Given the description of an element on the screen output the (x, y) to click on. 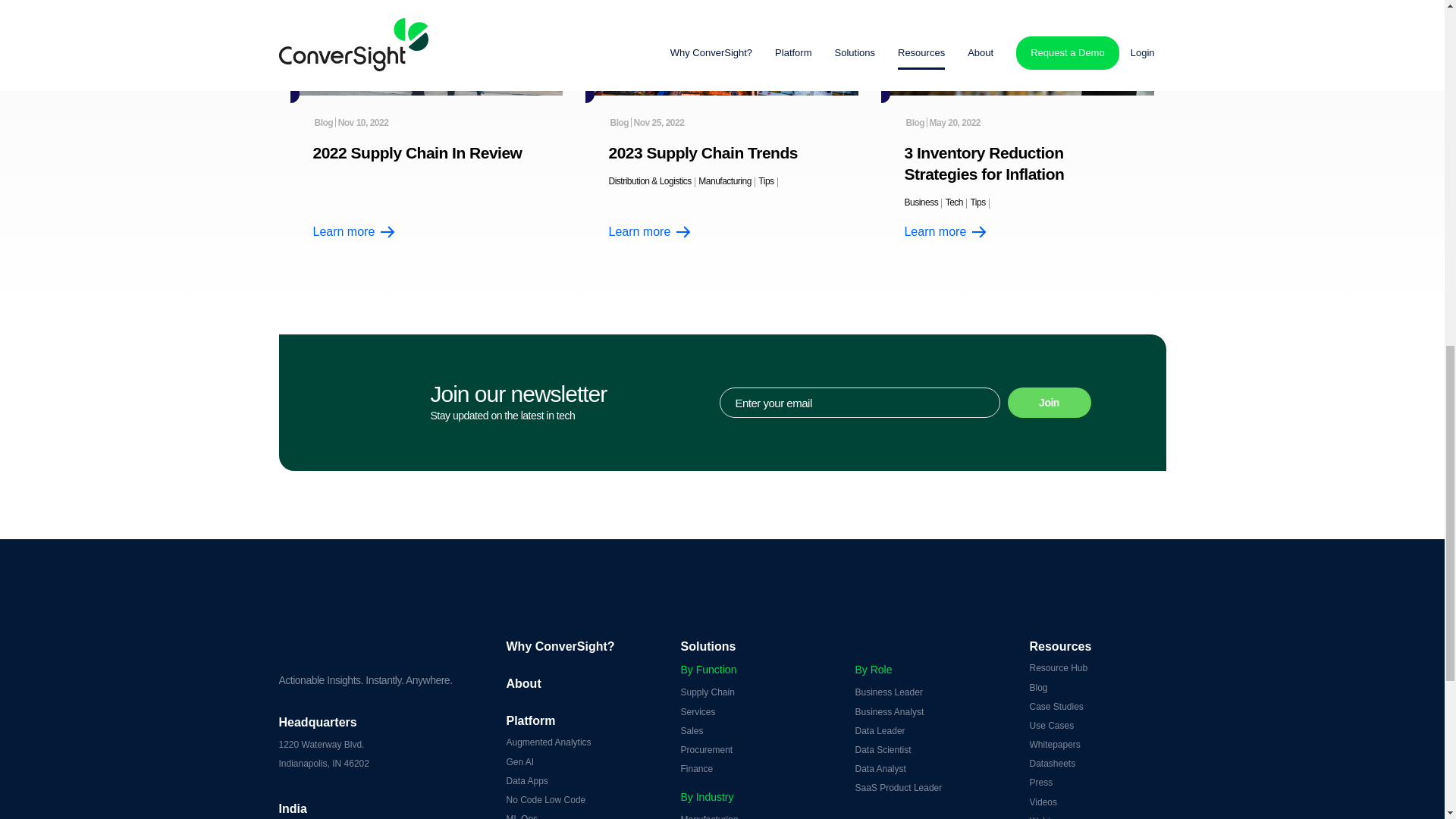
ConverSight (381, 631)
9 (425, 47)
17 (1017, 47)
7 (722, 47)
Join (1048, 402)
